Given the description of an element on the screen output the (x, y) to click on. 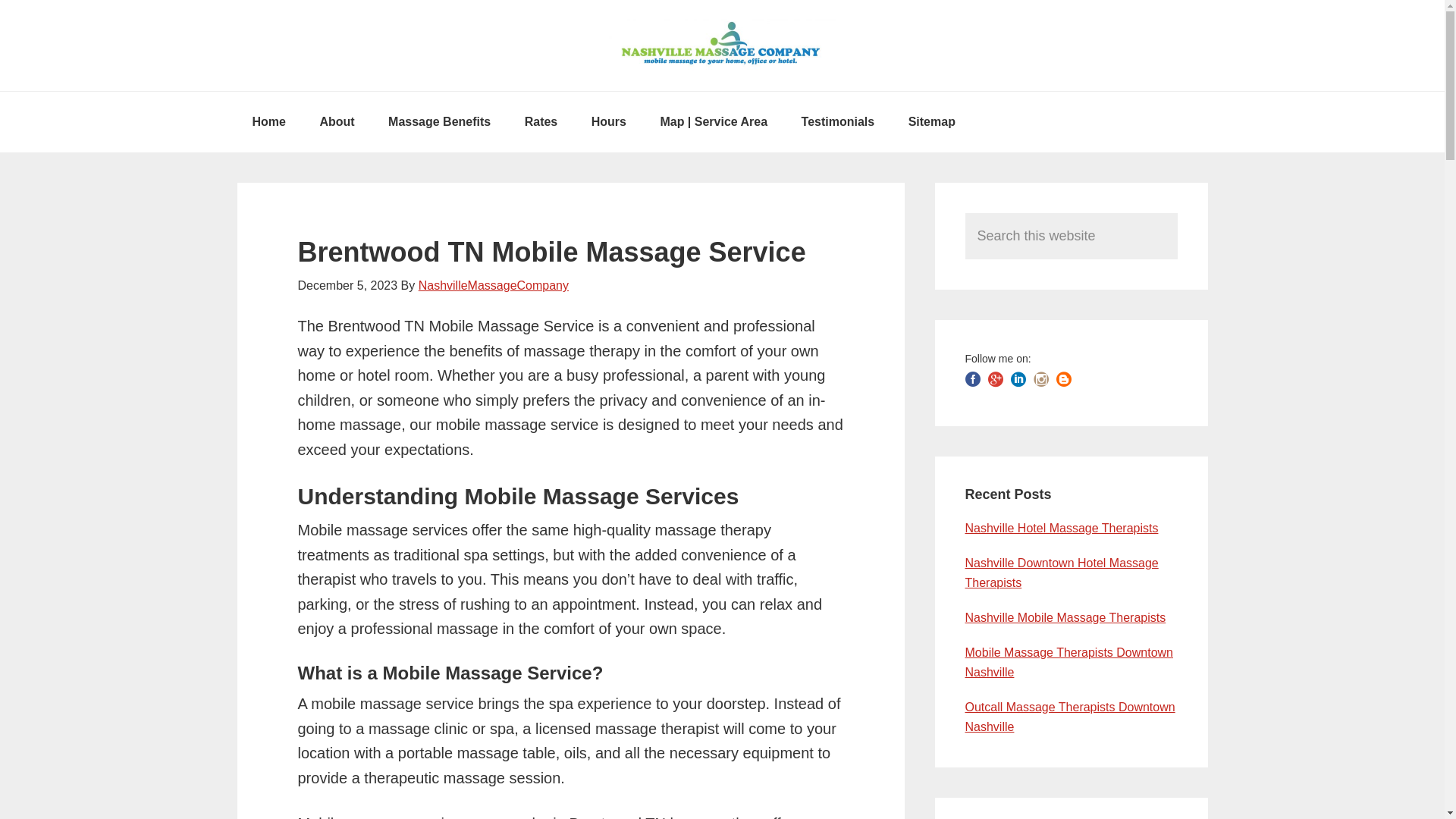
NashvilleMassageCompany (494, 285)
Outcall Massage Therapists Downtown Nashville (1068, 717)
Nashville Mobile Massage Therapists (1064, 617)
Nashville Massage Company (721, 45)
Nashville Hotel Massage Therapists (1060, 527)
Hours (609, 121)
Mobile Massage Therapists Downtown Nashville (1068, 662)
